Given the description of an element on the screen output the (x, y) to click on. 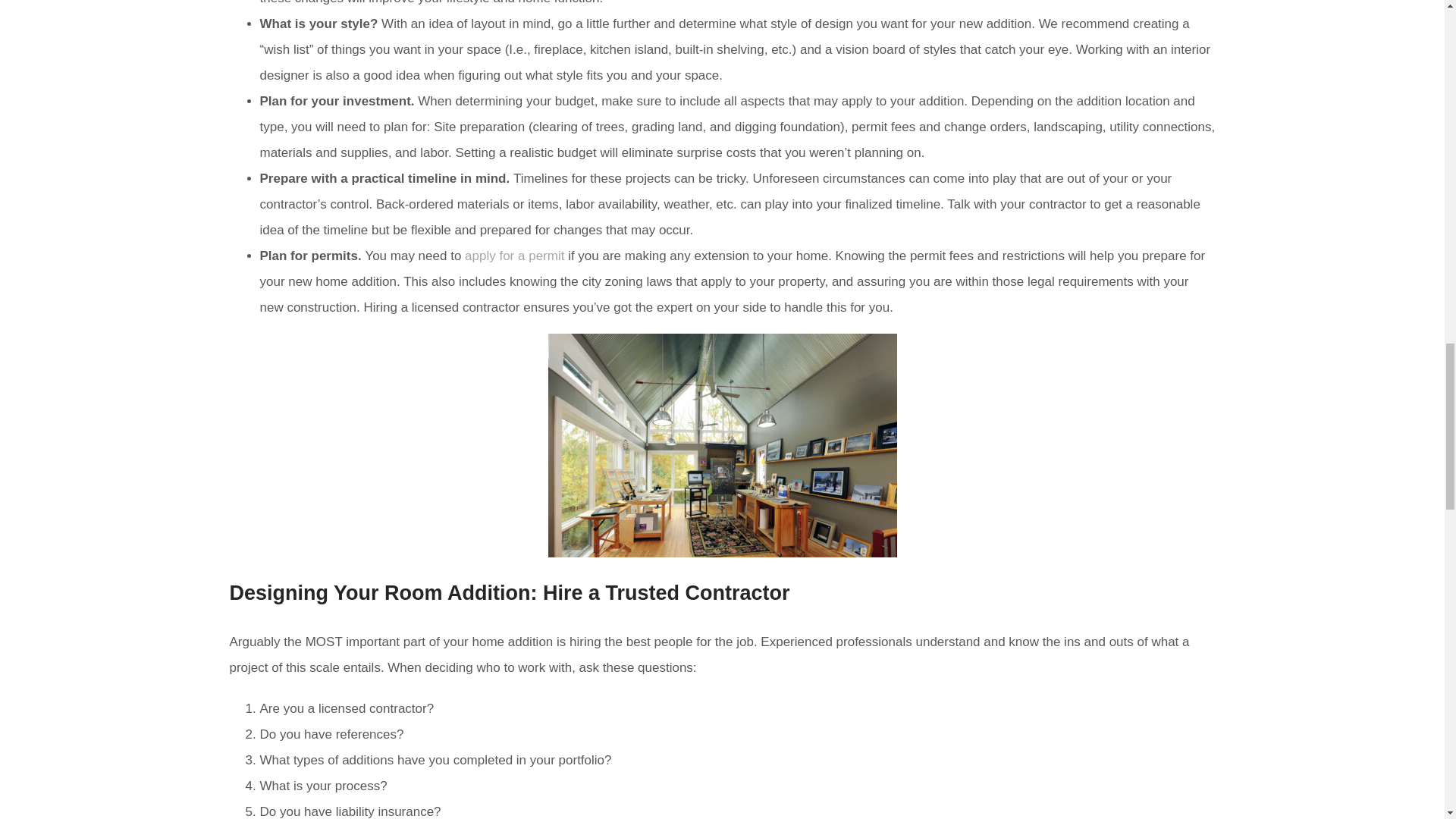
apply for a permit (514, 255)
